Given the description of an element on the screen output the (x, y) to click on. 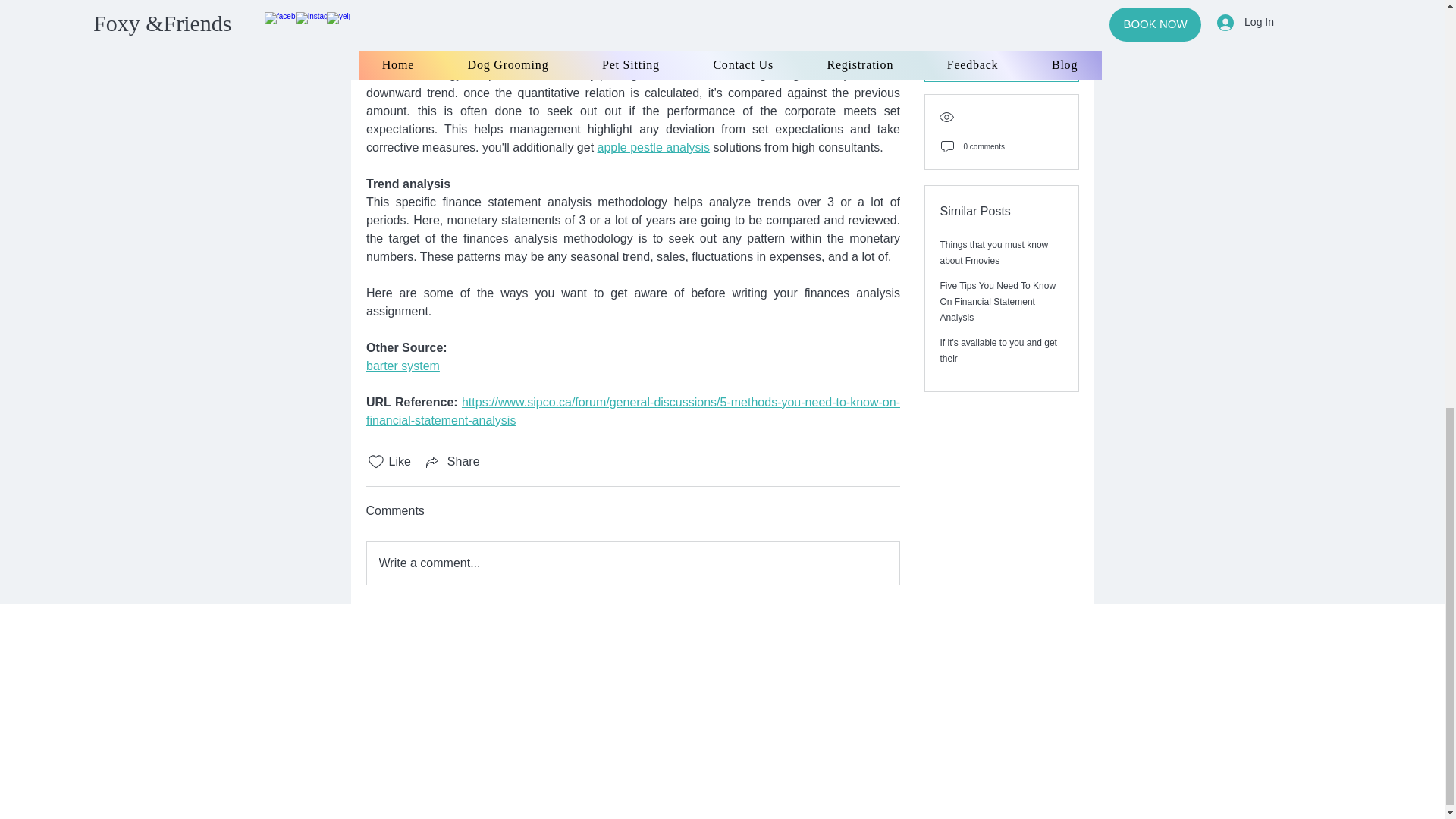
apple pestle analysis (653, 146)
Share (451, 461)
barter system (402, 365)
Write a comment... (632, 563)
